Given the description of an element on the screen output the (x, y) to click on. 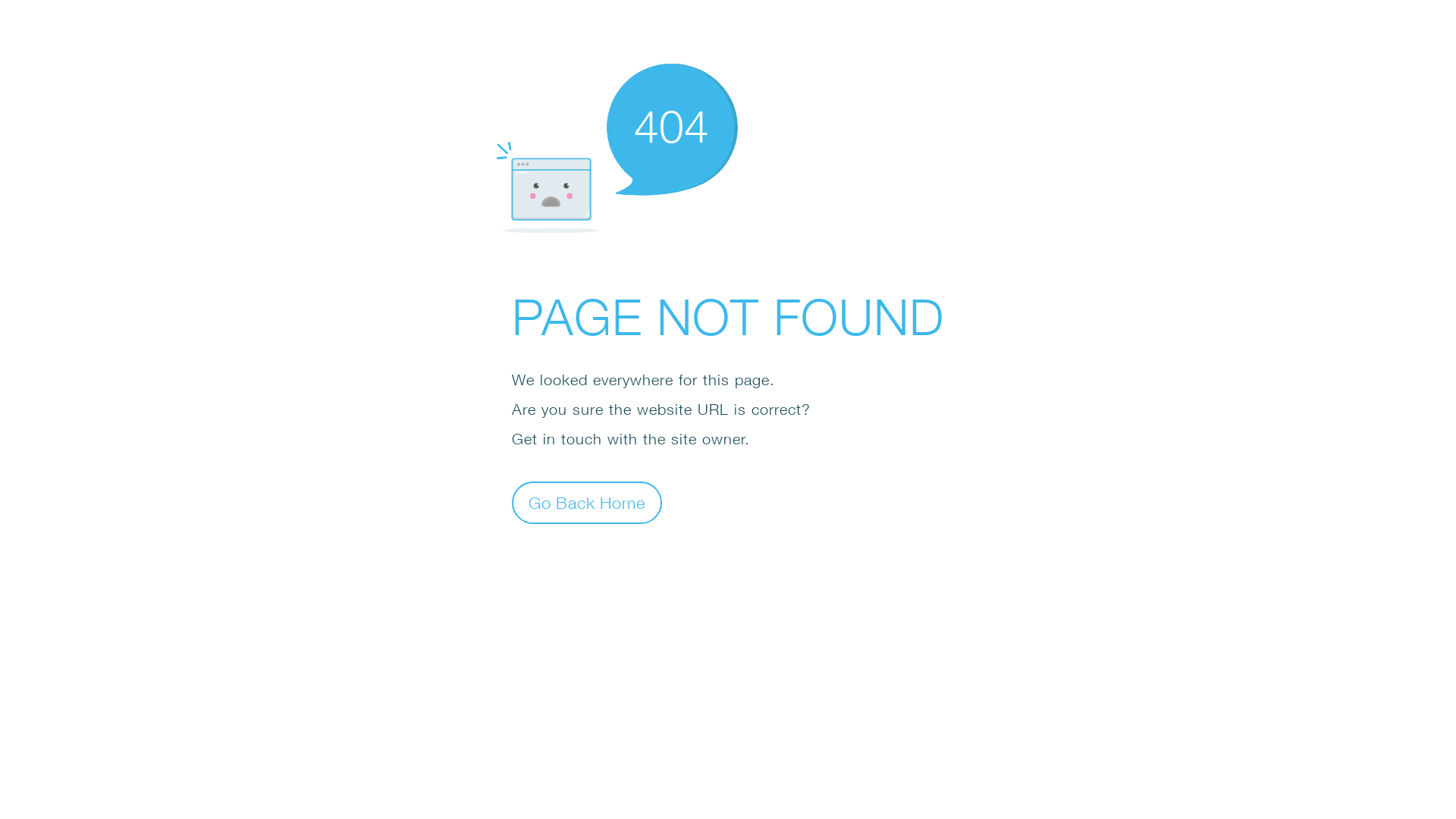
Go Back Home Element type: text (586, 502)
